Given the description of an element on the screen output the (x, y) to click on. 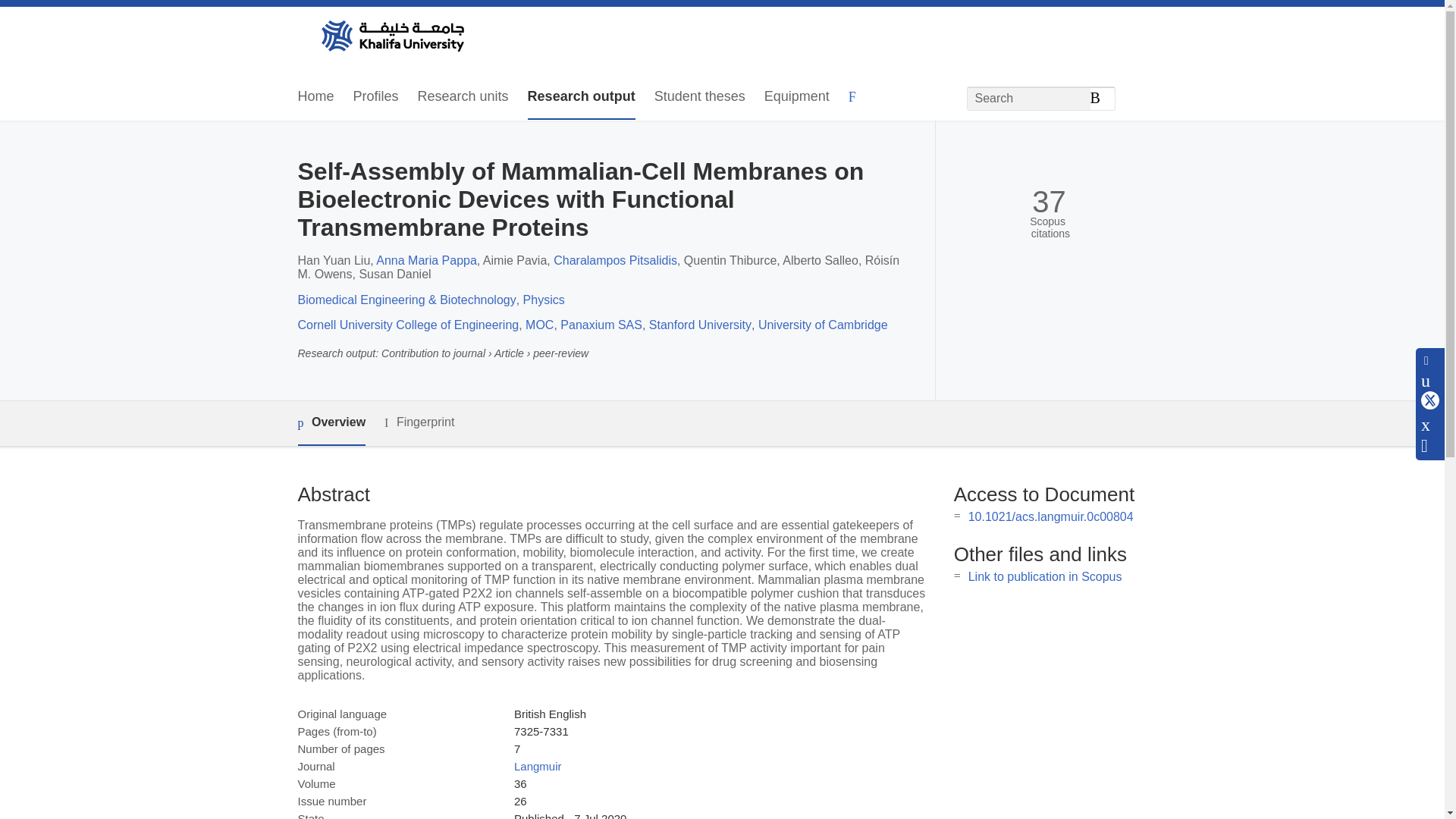
Student theses (699, 97)
Physics (543, 299)
University of Cambridge (823, 324)
Equipment (796, 97)
Khalifa University Home (391, 37)
Fingerprint (419, 422)
Langmuir (537, 766)
Charalampos Pitsalidis (615, 259)
MOC (539, 324)
Cornell University College of Engineering (407, 324)
